Given the description of an element on the screen output the (x, y) to click on. 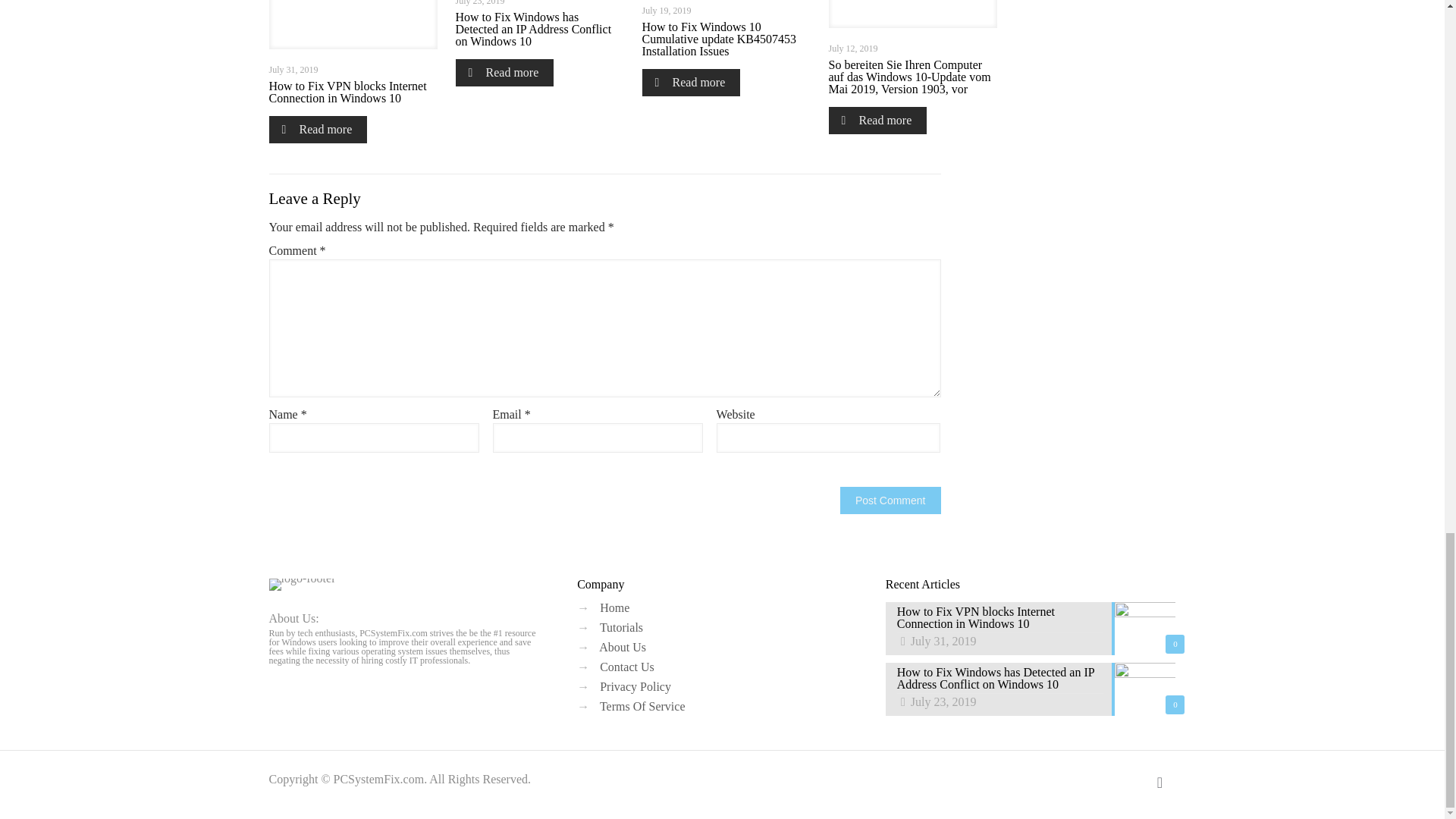
Read more (316, 129)
Read more (503, 72)
Post Comment (890, 499)
How to Fix VPN blocks Internet Connection in Windows 10 (346, 91)
